Given the description of an element on the screen output the (x, y) to click on. 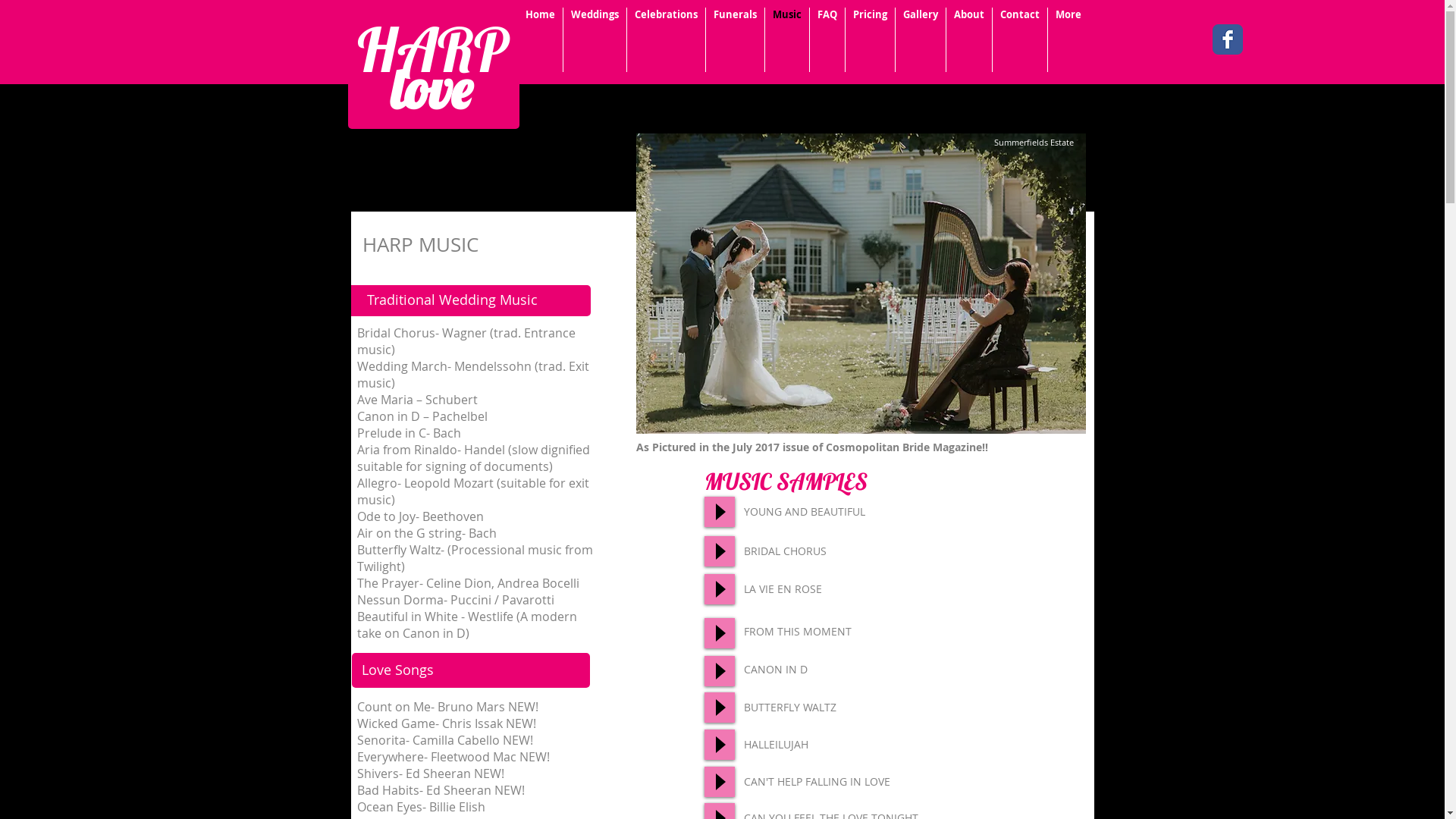
Contact Element type: text (1018, 39)
Funerals Element type: text (734, 39)
About Element type: text (968, 39)
Pricing Element type: text (869, 39)
FAQ Element type: text (826, 39)
Gallery Element type: text (919, 39)
Celebrations Element type: text (665, 39)
Music Element type: text (786, 39)
Weddings Element type: text (593, 39)
Home Element type: text (539, 39)
